Given the description of an element on the screen output the (x, y) to click on. 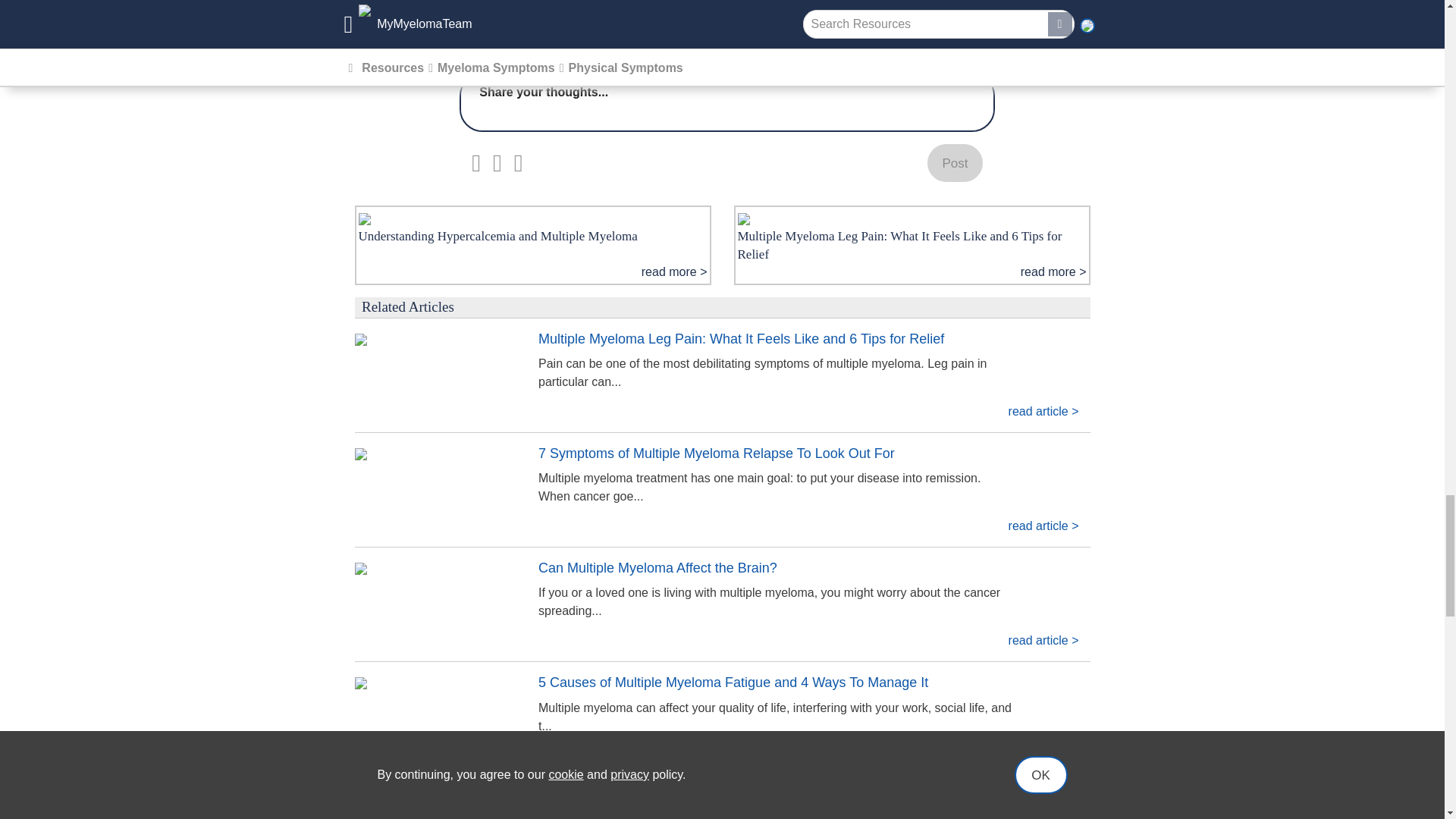
Send a hug (478, 46)
I like this (530, 46)
submit (954, 162)
